Given the description of an element on the screen output the (x, y) to click on. 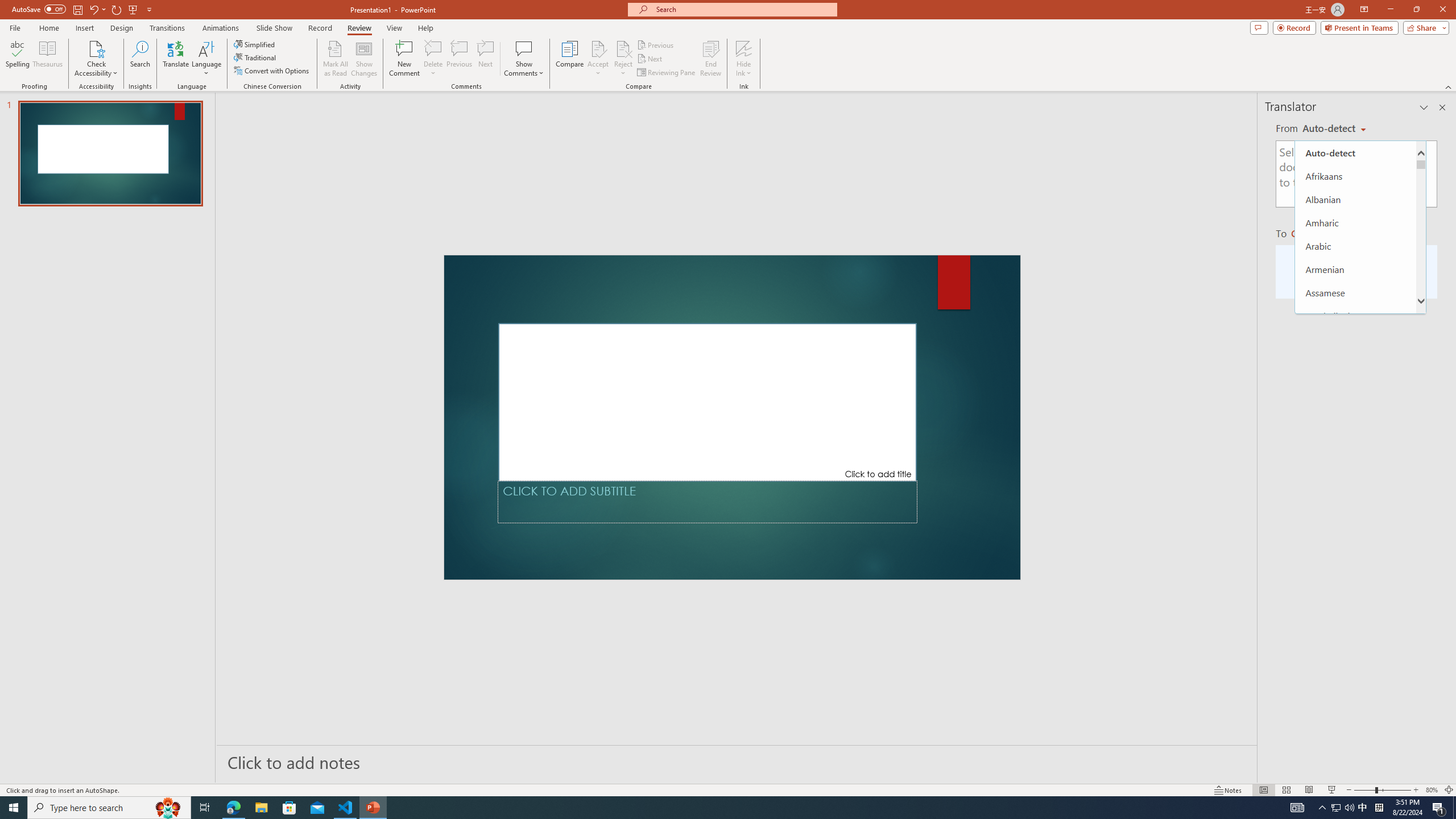
Bashkir (1355, 362)
Dogri (1355, 757)
Assamese (1355, 292)
Auto-detect (1355, 152)
Croatian (1355, 641)
Dari (1355, 711)
Arabic (1355, 245)
Mark All as Read (335, 58)
Reject Change (622, 48)
